Given the description of an element on the screen output the (x, y) to click on. 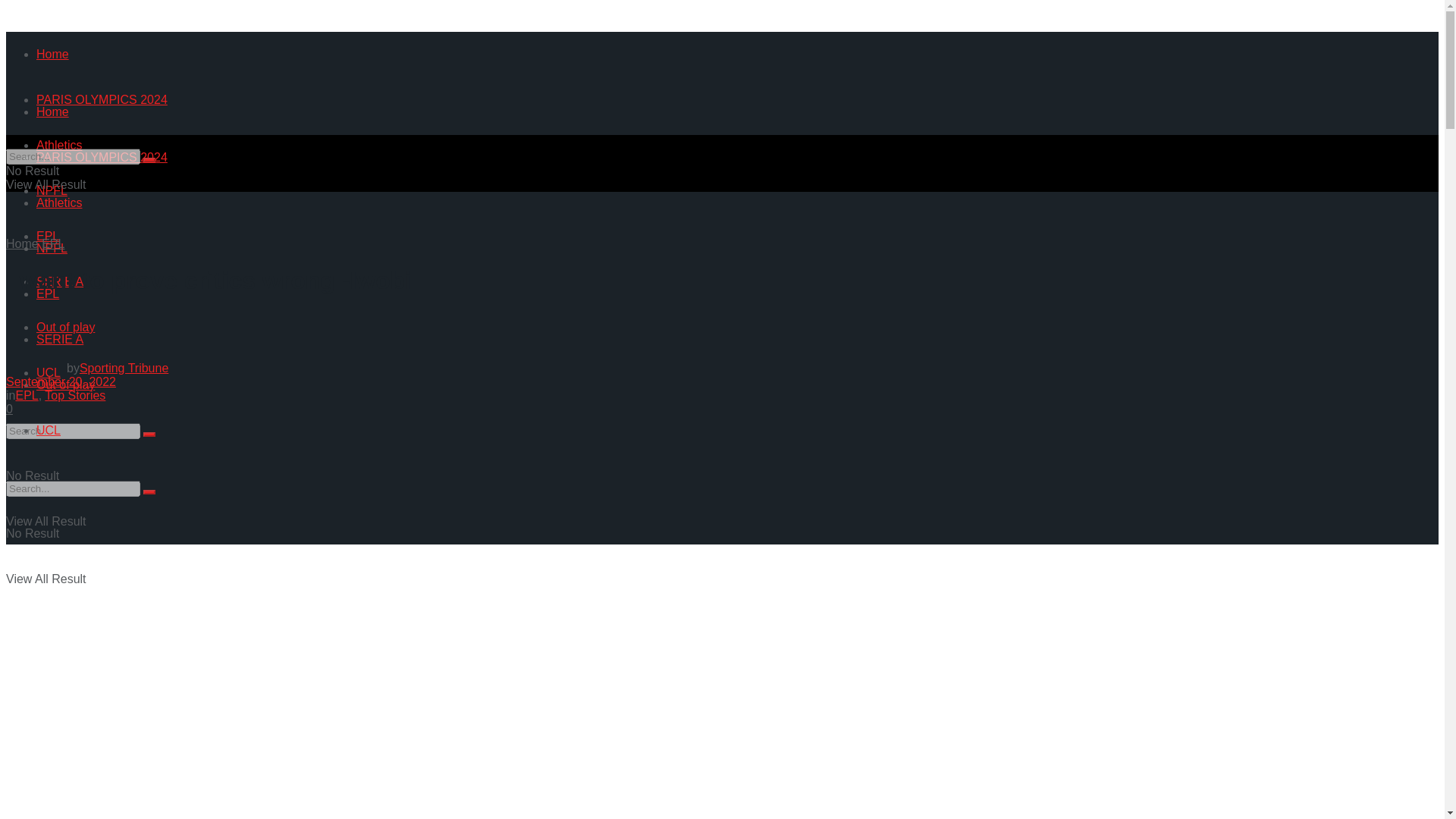
Out of play (65, 384)
Athletics (58, 202)
Out of play (65, 327)
Home (52, 53)
Home (52, 111)
Home (22, 243)
EPL (25, 395)
Top Stories (74, 395)
NPFL (51, 247)
SERIE A (59, 338)
